Given the description of an element on the screen output the (x, y) to click on. 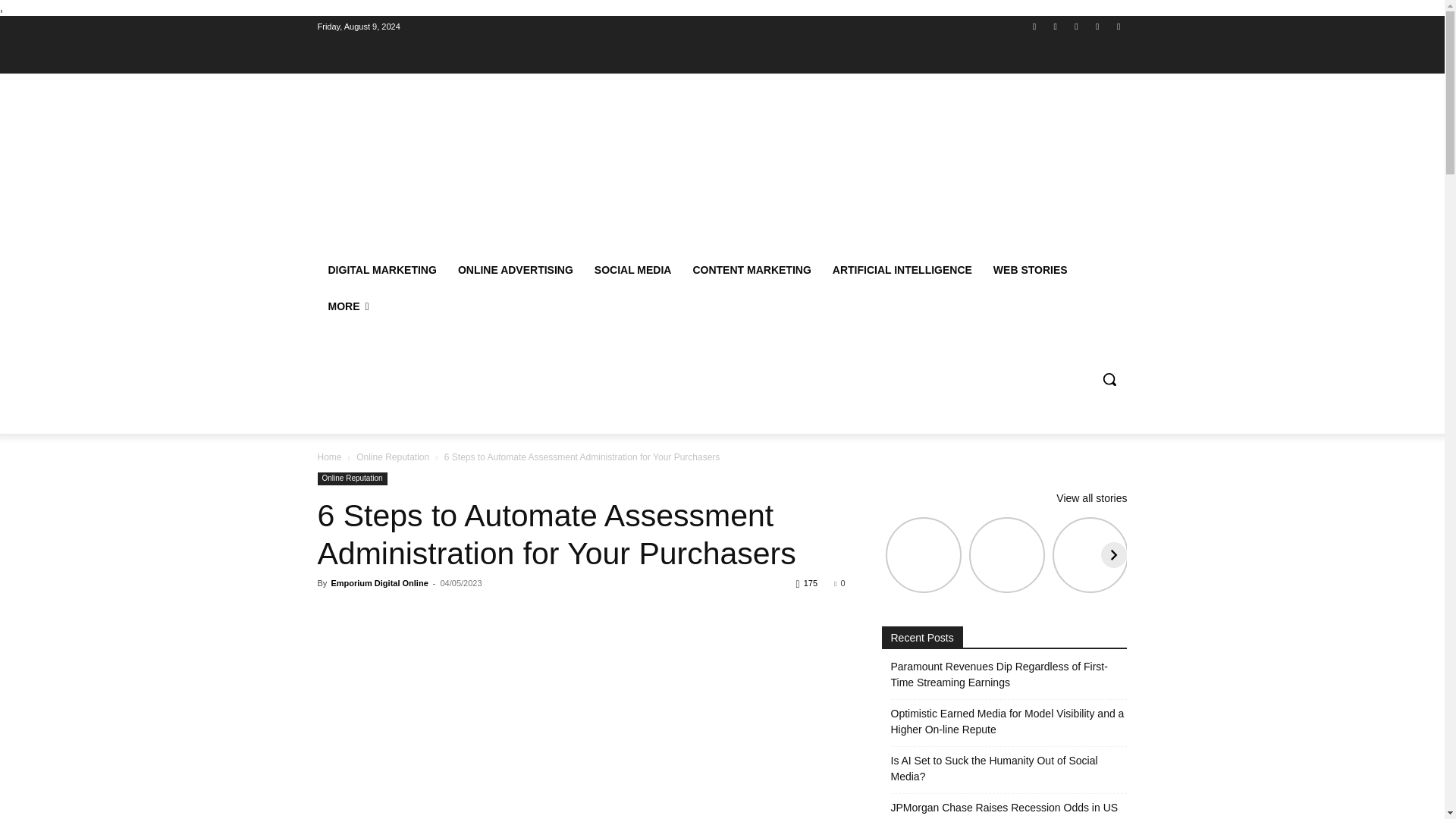
Instagram (1055, 27)
MORE (347, 306)
SOCIAL MEDIA (632, 269)
TikTok (1075, 27)
ONLINE ADVERTISING (514, 269)
DIGITAL MARKETING (381, 269)
Facebook (1034, 27)
Twitter (1097, 27)
Youtube (1117, 27)
CONTENT MARKETING (751, 269)
